Given the description of an element on the screen output the (x, y) to click on. 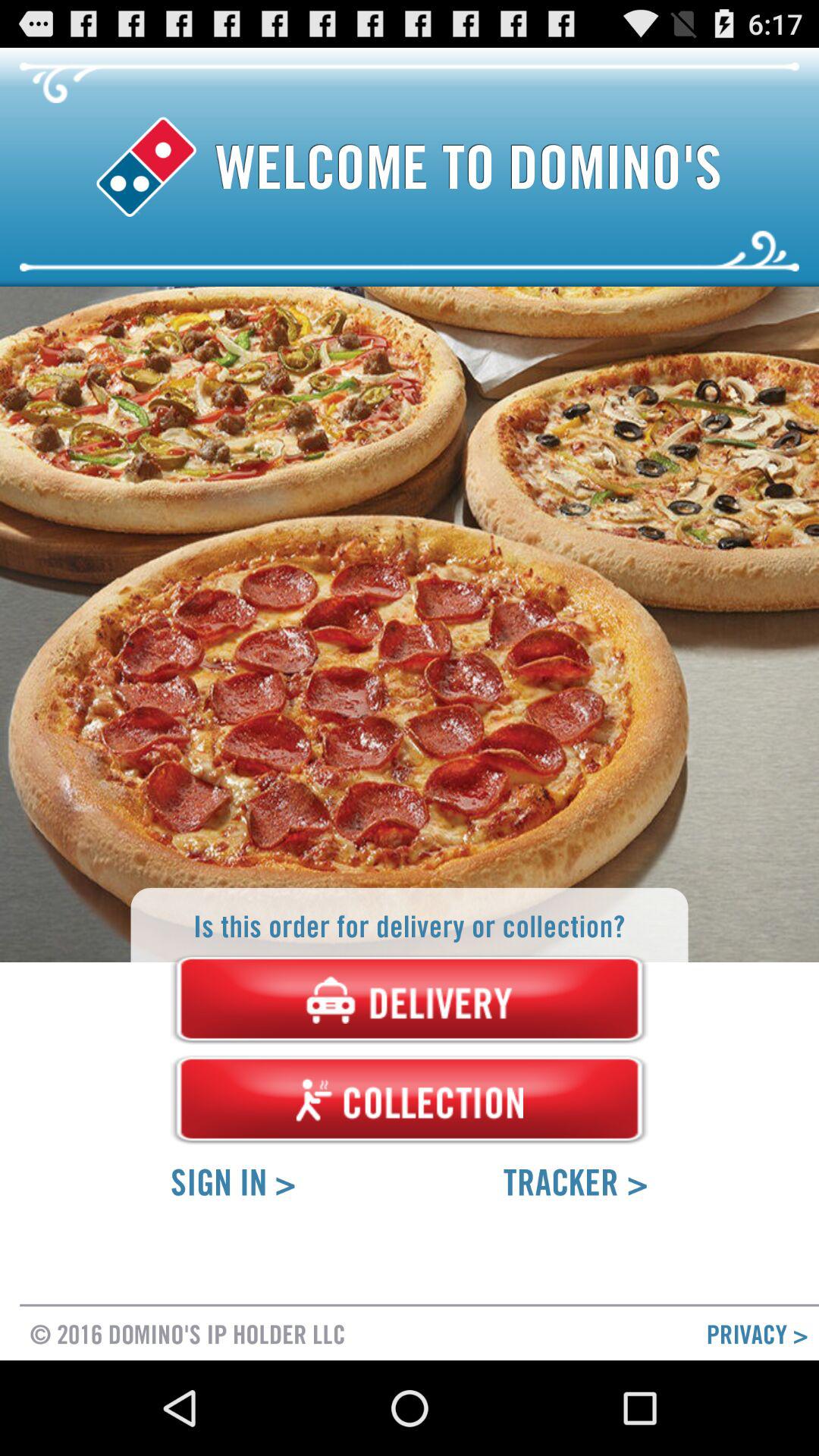
delivery (409, 999)
